Given the description of an element on the screen output the (x, y) to click on. 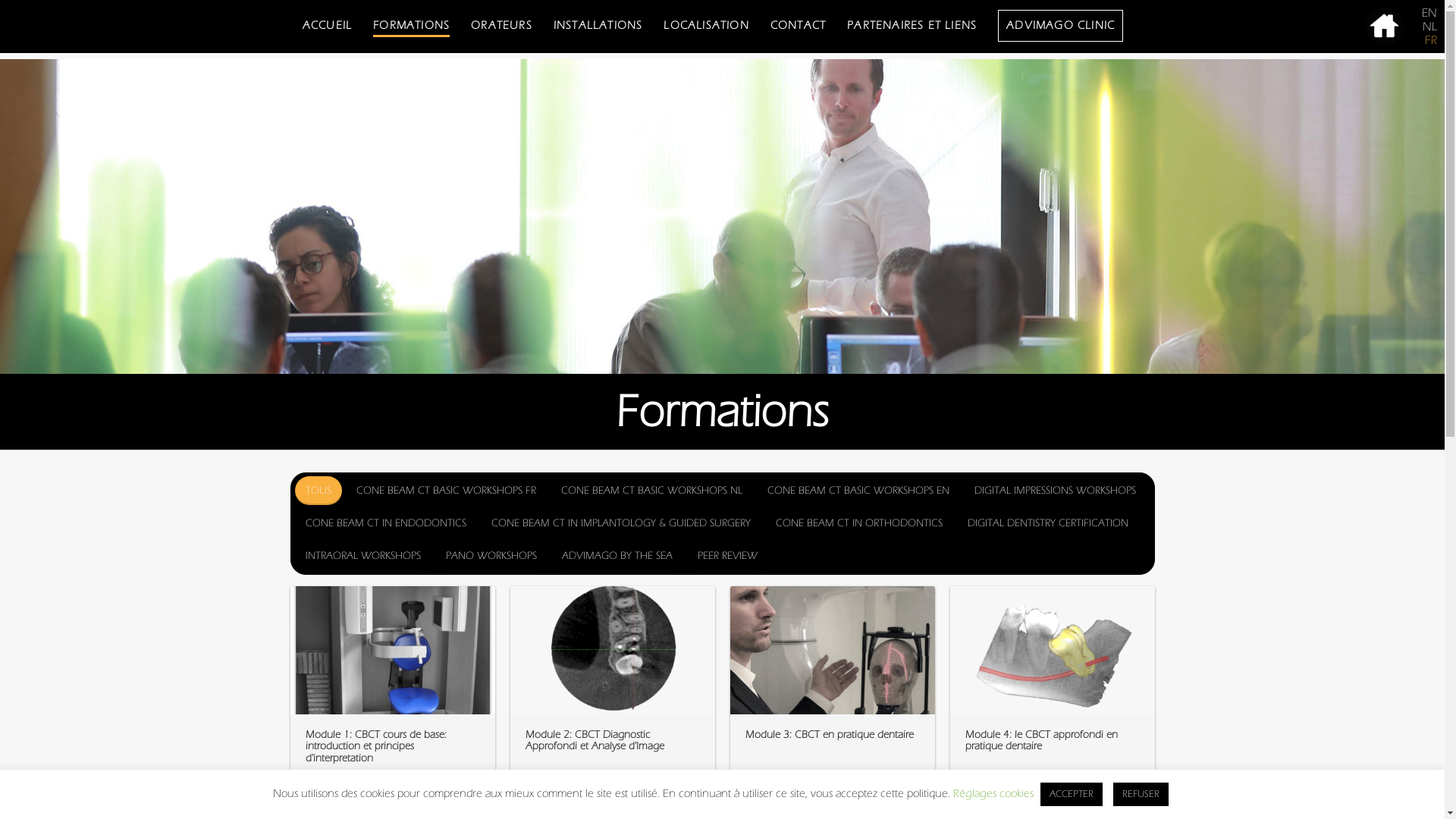
DIGITAL IMPRESSIONS WORKSHOPS Element type: text (1054, 490)
TOUS Element type: text (317, 490)
https://www.advimago.be/wp-content/uploads/2020/04/MOD1.jpg Element type: hover (391, 650)
FR Element type: text (1430, 40)
CONE BEAM CT BASIC WORKSHOPS NL Element type: text (651, 490)
CONE BEAM CT IN ENDODONTICS Element type: text (385, 522)
EN Element type: text (1429, 12)
Module 3: CBCT en pratique dentaire Element type: text (828, 734)
ACCUEIL Element type: text (326, 24)
NL Element type: text (1429, 26)
PEER REVIEW Element type: text (727, 555)
CONTACT Element type: text (797, 24)
Module 2: CBCT Diagnostic Approfondi et Analyse d'Image Element type: text (593, 740)
REFUSER Element type: text (1140, 794)
PARTENAIRES ET LIENS Element type: text (911, 24)
FORMATIONS Element type: text (411, 24)
CONE BEAM CT IN IMPLANTOLOGY & GUIDED SURGERY Element type: text (620, 522)
ACCEPTER Element type: text (1071, 794)
Module 4: le CBCT approfondi en pratique dentaire Element type: text (1040, 740)
DIGITAL DENTISTRY CERTIFICATION Element type: text (1048, 522)
CONE BEAM CT BASIC WORKSHOPS FR Element type: text (445, 490)
ORATEURS Element type: text (501, 24)
CONE BEAM CT IN ORTHODONTICS Element type: text (858, 522)
ADVIMAGO BY THE SEA Element type: text (616, 555)
LOCALISATION Element type: text (705, 24)
INSTALLATIONS Element type: text (598, 24)
ADVIMAGO CLINIC Element type: text (1060, 24)
PANO WORKSHOPS Element type: text (491, 555)
CONE BEAM CT BASIC WORKSHOPS EN Element type: text (858, 490)
https://www.advimago.be/wp-content/uploads/2020/04/MOD4.png Element type: hover (1051, 649)
INTRAORAL WORKSHOPS Element type: text (362, 555)
